Given the description of an element on the screen output the (x, y) to click on. 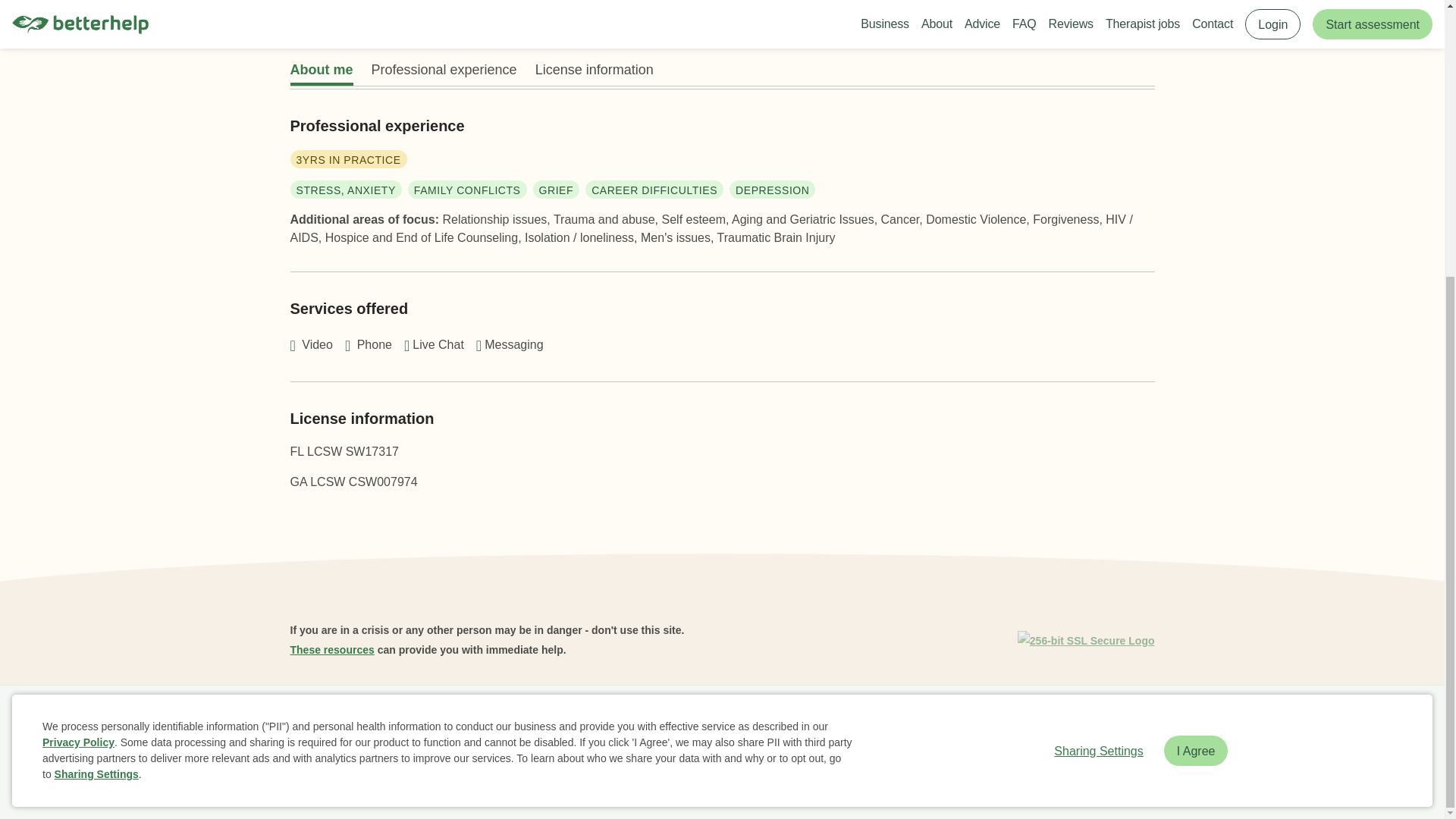
Sharing Settings (96, 363)
Find a Therapist (692, 721)
These resources (331, 649)
Business (365, 721)
Contact (857, 721)
Online Therapy (784, 721)
Sharing Settings (1098, 340)
Privacy Policy (78, 331)
Reviews (510, 721)
About (419, 721)
I Agree (1195, 340)
For Therapists (928, 721)
Careers (618, 721)
Home (311, 721)
FAQ (462, 721)
